Given the description of an element on the screen output the (x, y) to click on. 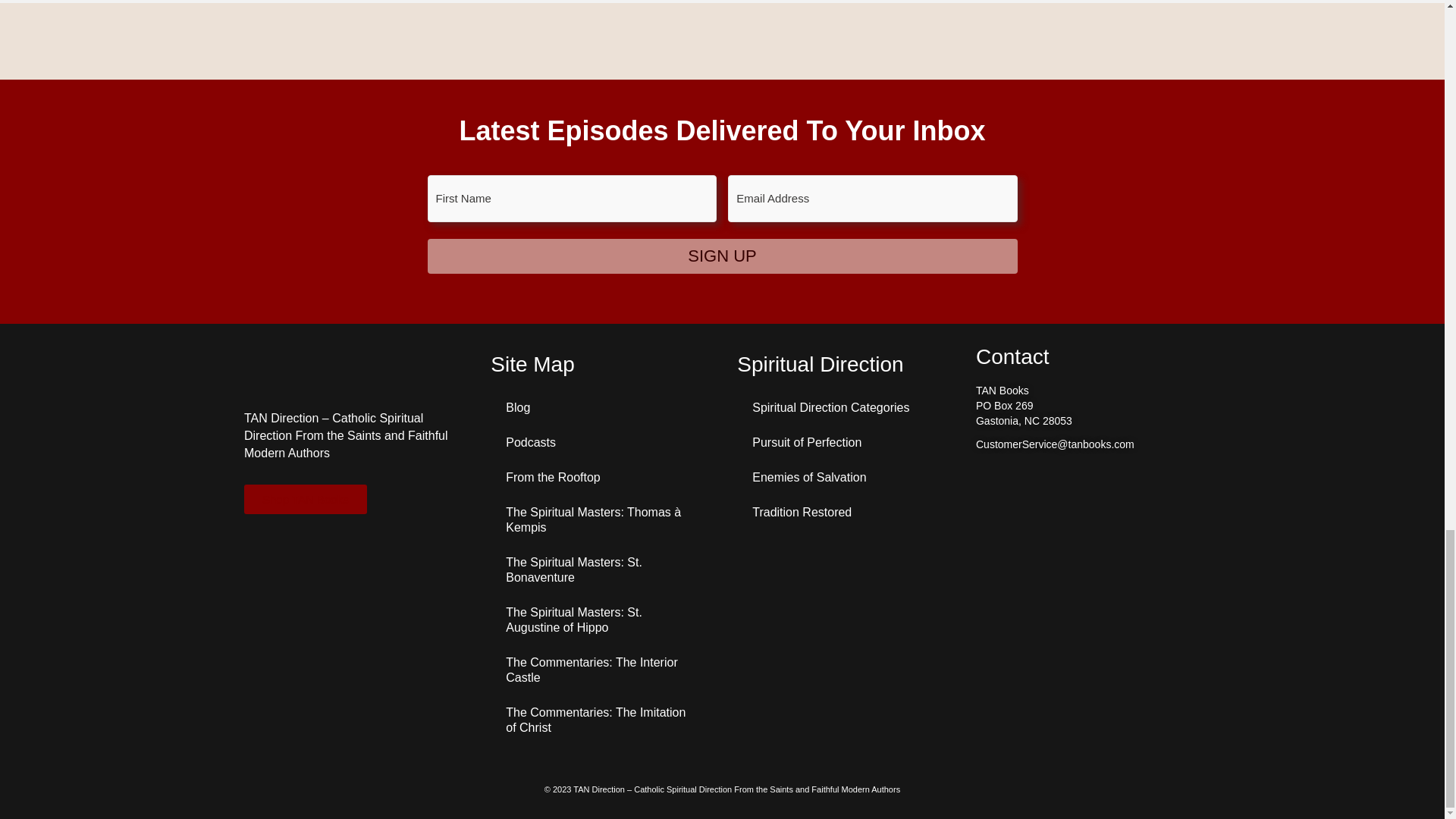
Blog (598, 407)
Sign Up (722, 256)
The Commentaries: The Interior Castle (598, 670)
From the Rooftop (598, 477)
Sign Up (722, 256)
The Spiritual Masters: St. Augustine of Hippo (598, 620)
Podcasts (598, 442)
The Spiritual Masters: St. Bonaventure (598, 570)
The Commentaries: The Imitation of Christ (598, 720)
Shop TAN Books (305, 499)
